Given the description of an element on the screen output the (x, y) to click on. 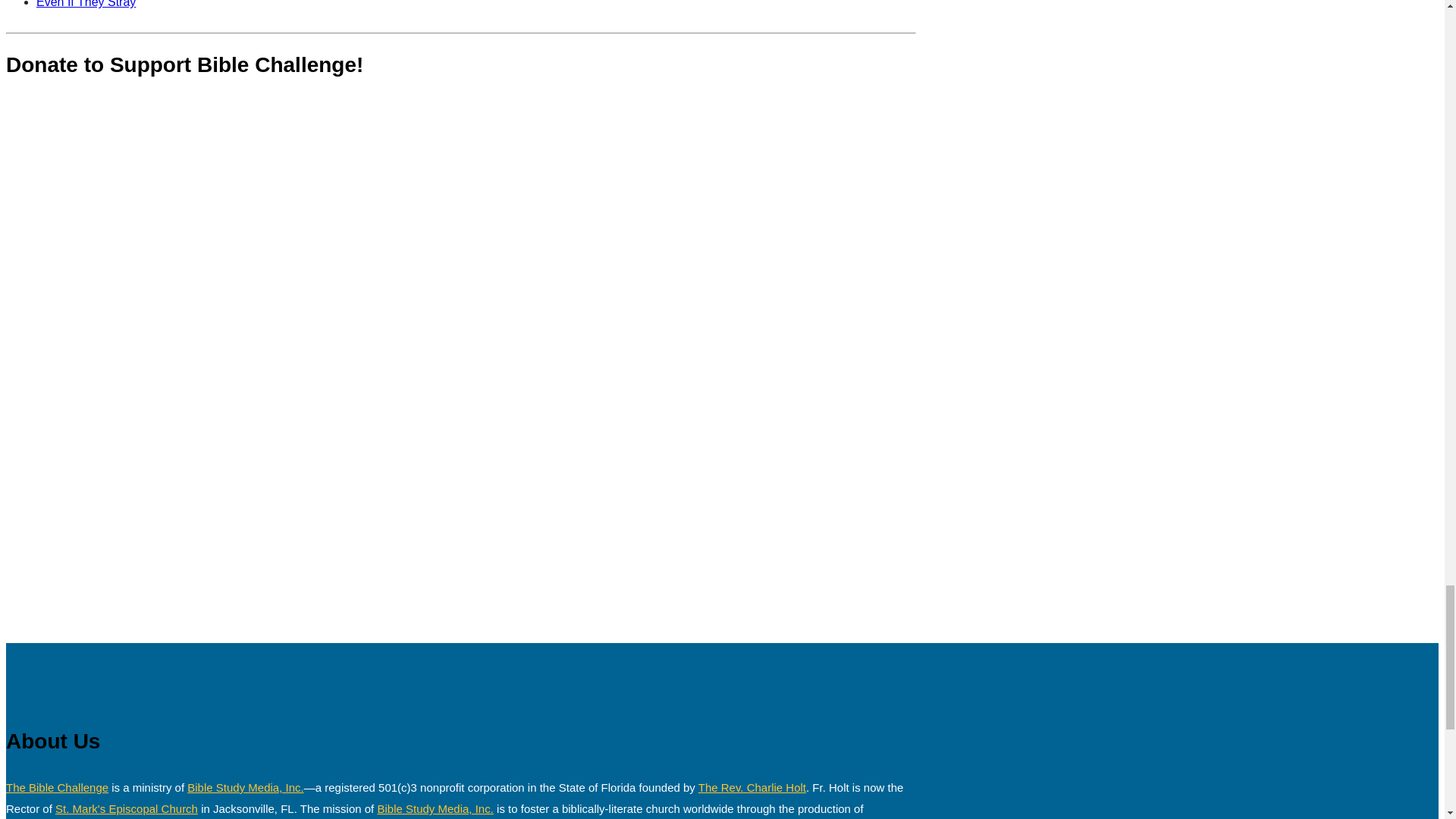
The Bible Challenge (56, 787)
Even If They Stray (85, 4)
Bible Study Media, Inc. (244, 787)
